Given the description of an element on the screen output the (x, y) to click on. 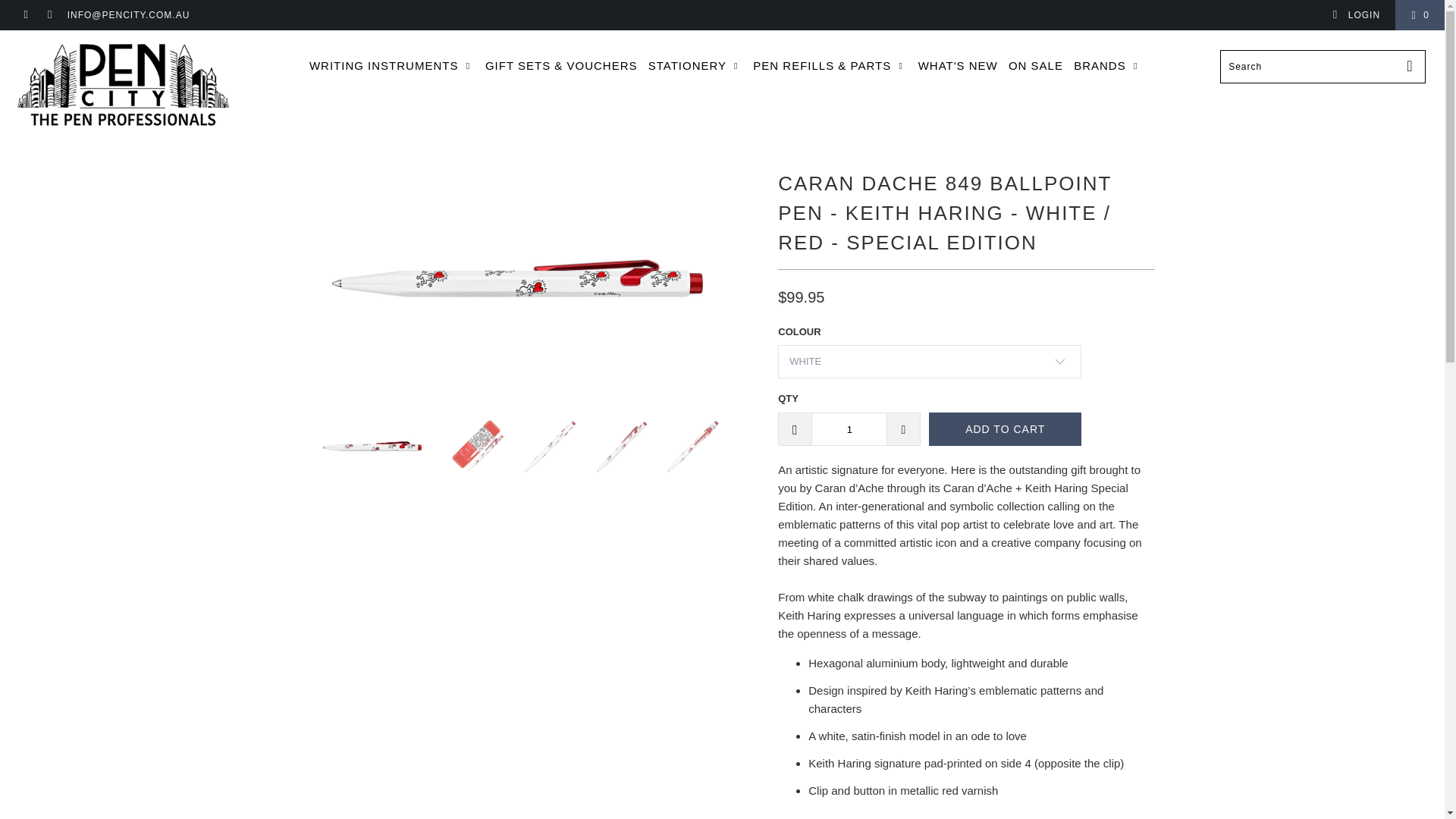
Pen City on Instagram (48, 14)
1 (848, 428)
My Account  (1355, 15)
Pen City on Facebook (25, 14)
Pen City (122, 86)
